Given the description of an element on the screen output the (x, y) to click on. 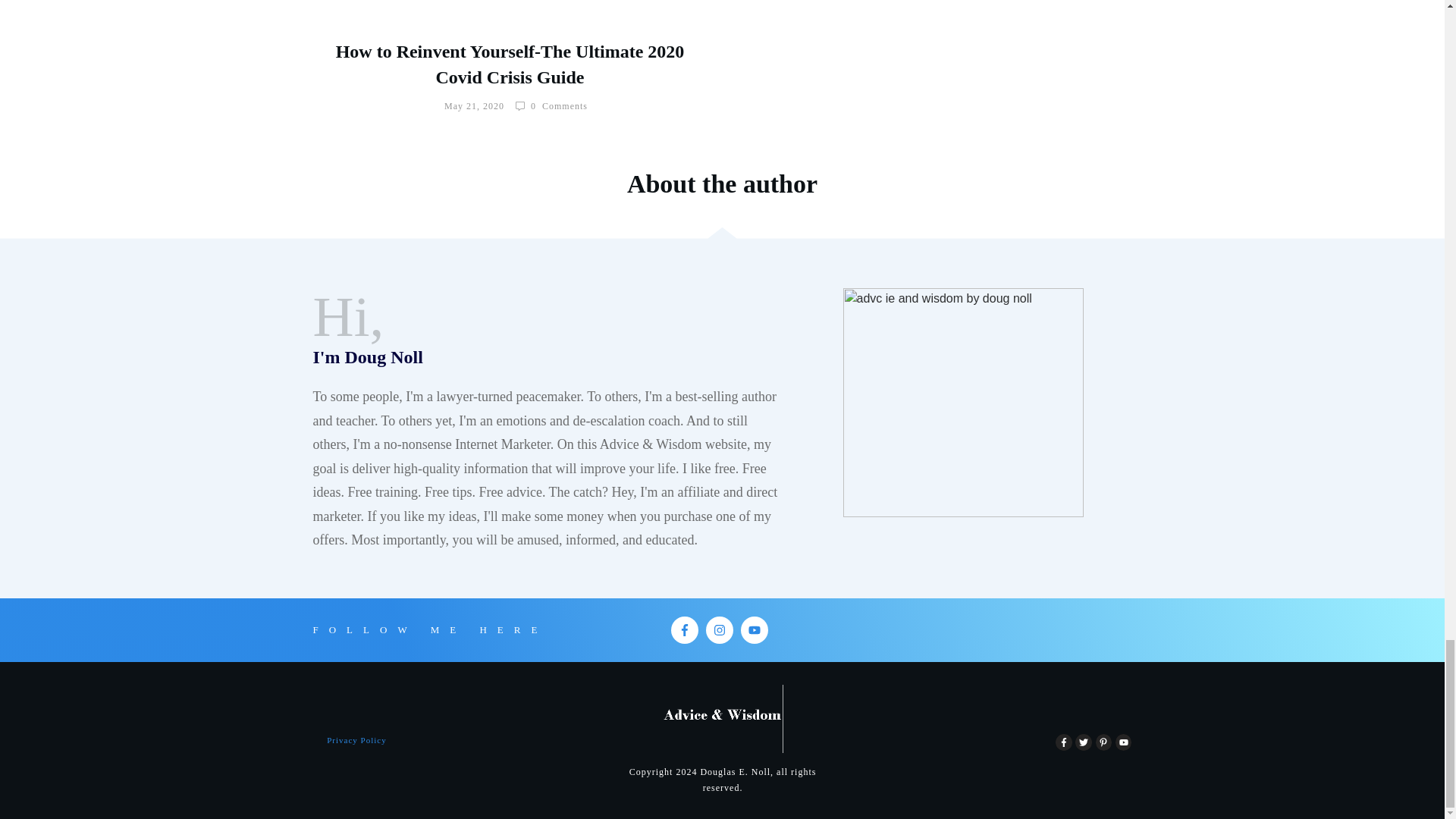
Doug Noll (963, 402)
